Given the description of an element on the screen output the (x, y) to click on. 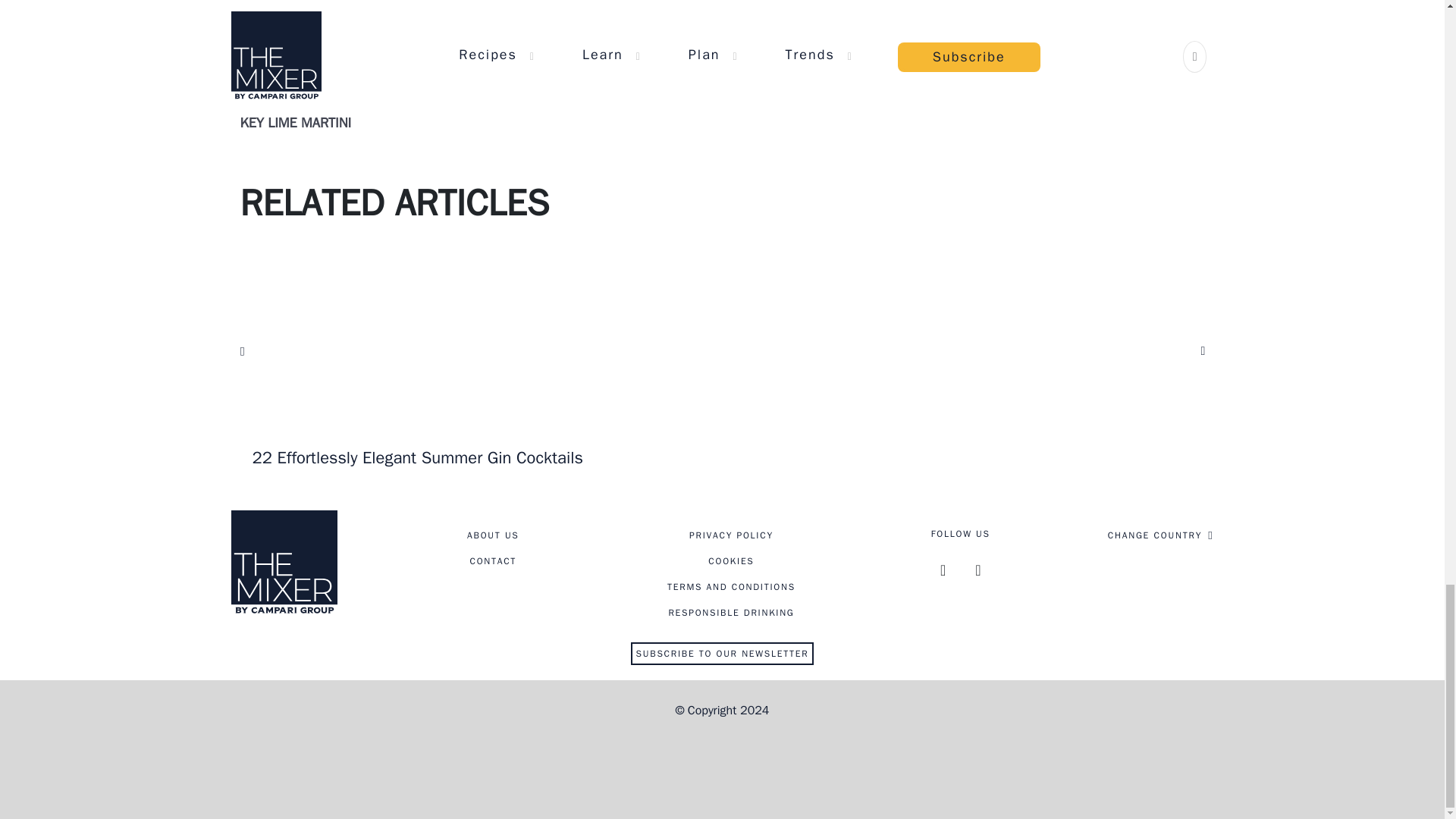
Campari Group - Link opens on a new tab (721, 758)
